Given the description of an element on the screen output the (x, y) to click on. 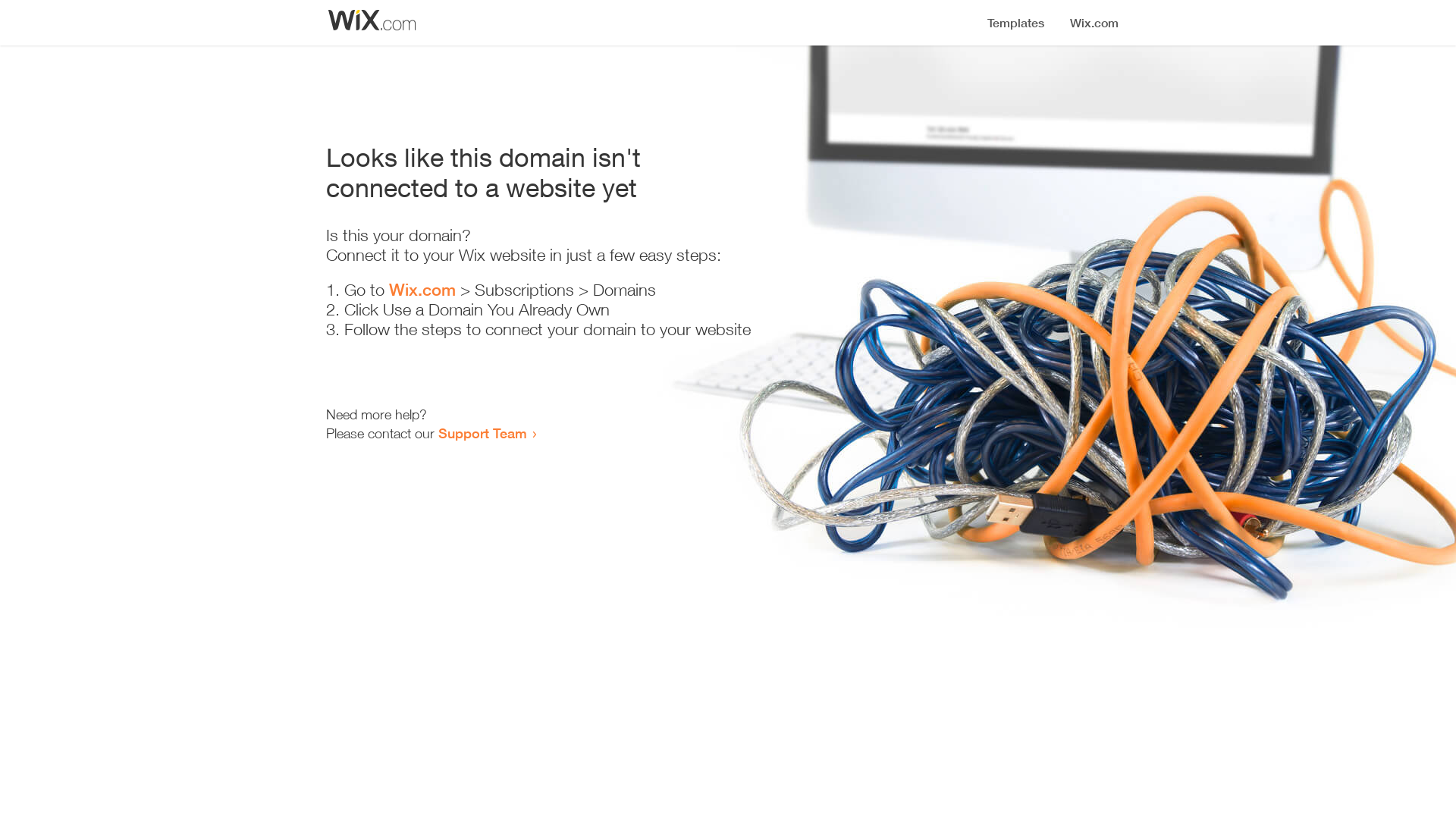
Wix.com Element type: text (422, 289)
Support Team Element type: text (482, 432)
